Given the description of an element on the screen output the (x, y) to click on. 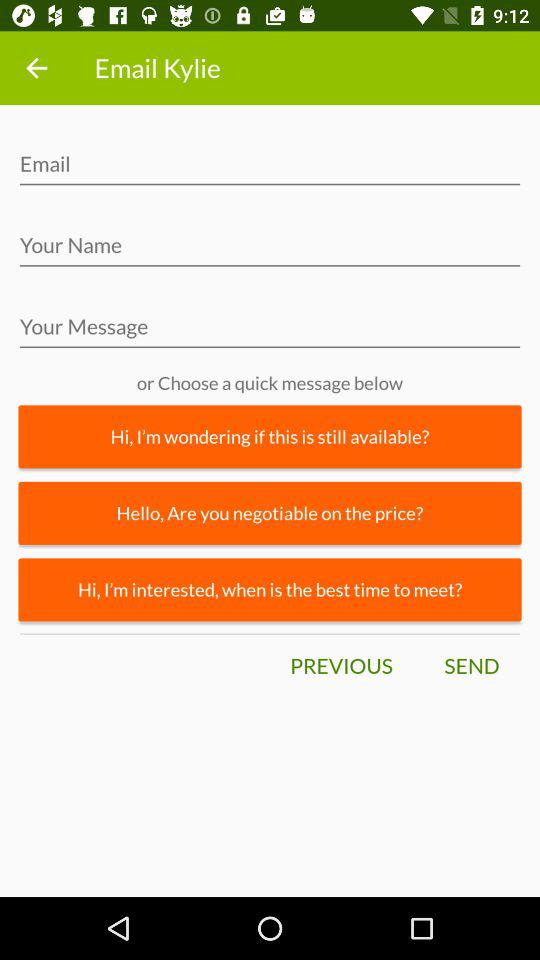
select the item above the or choose a icon (269, 331)
